Given the description of an element on the screen output the (x, y) to click on. 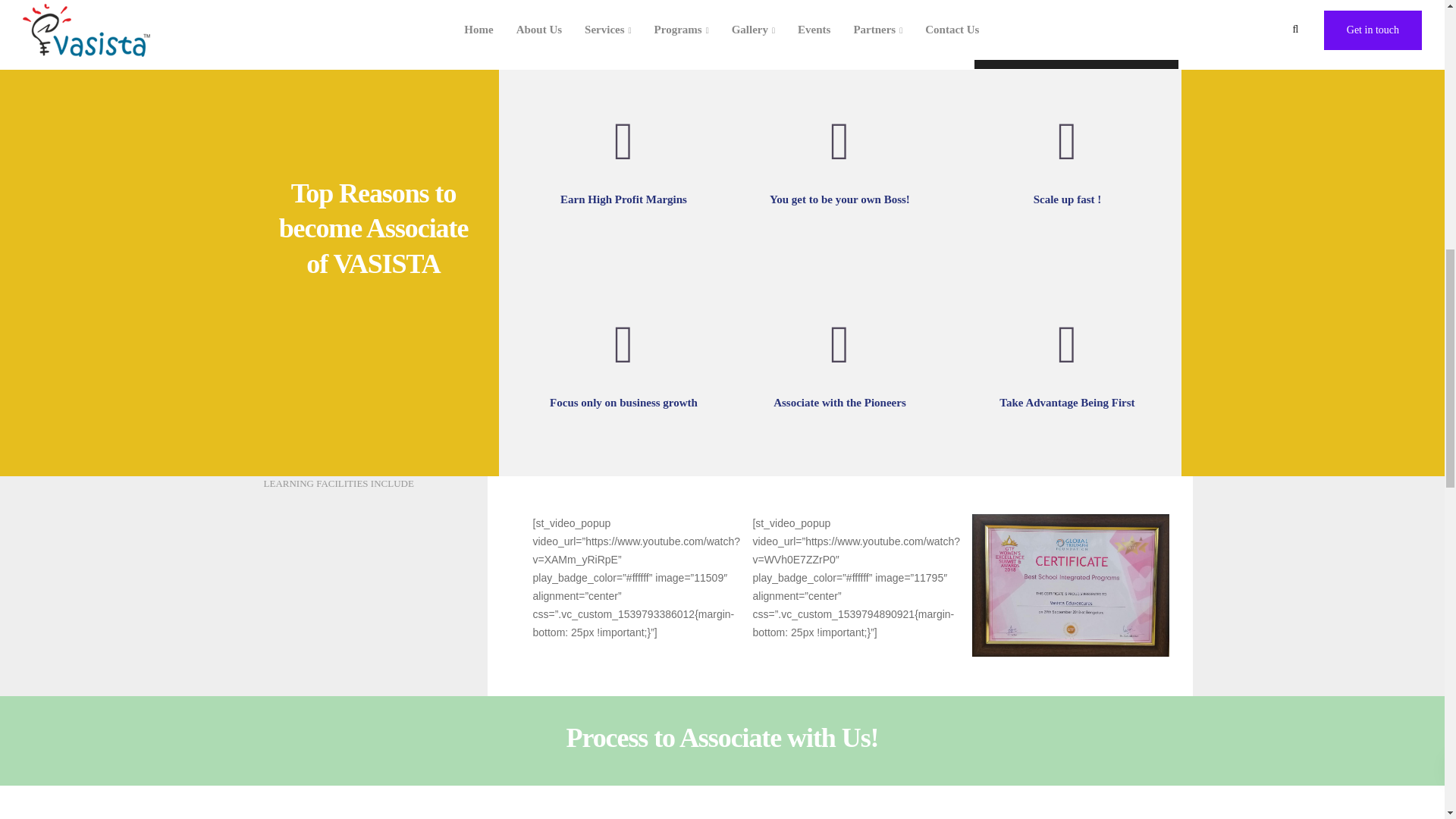
Submit (1075, 49)
Submit (1075, 49)
